Given the description of an element on the screen output the (x, y) to click on. 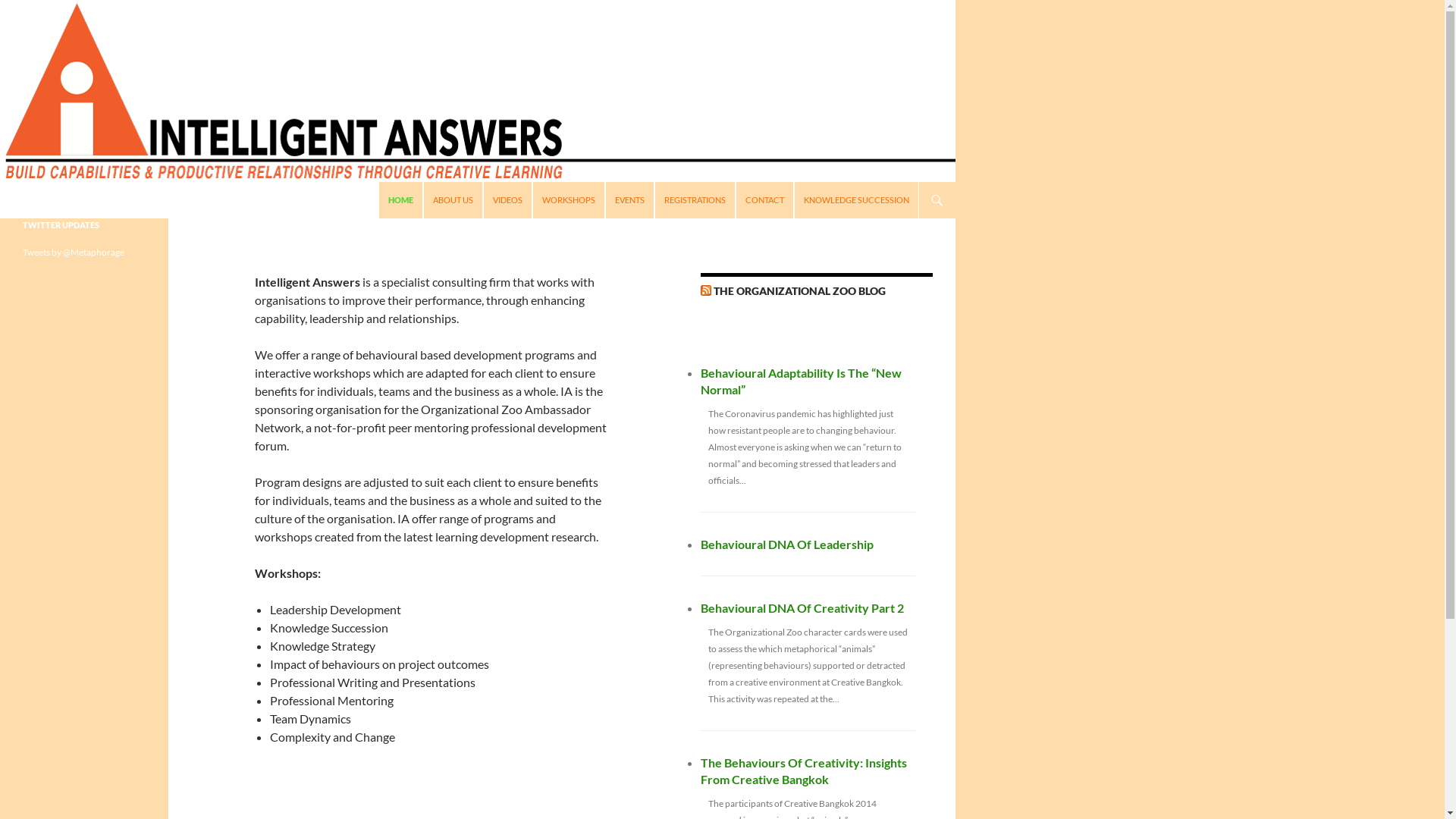
Behavioural DNA Of Leadership Element type: text (786, 543)
WORKSHOPS Element type: text (568, 200)
REGISTRATIONS Element type: text (694, 200)
CONTACT Element type: text (764, 200)
Tweets by @Metaphorage Element type: text (73, 251)
Search Element type: text (3, 181)
HOME Element type: text (400, 200)
SKIP TO CONTENT Element type: text (387, 181)
The Behaviours Of Creativity: Insights From Creative Bangkok Element type: text (803, 770)
EVENTS Element type: text (629, 200)
KNOWLEDGE SUCCESSION Element type: text (856, 200)
Behavioural DNA Of Creativity Part 2 Element type: text (801, 607)
THE ORGANIZATIONAL ZOO BLOG Element type: text (799, 290)
VIDEOS Element type: text (507, 200)
ABOUT US Element type: text (452, 200)
